Given the description of an element on the screen output the (x, y) to click on. 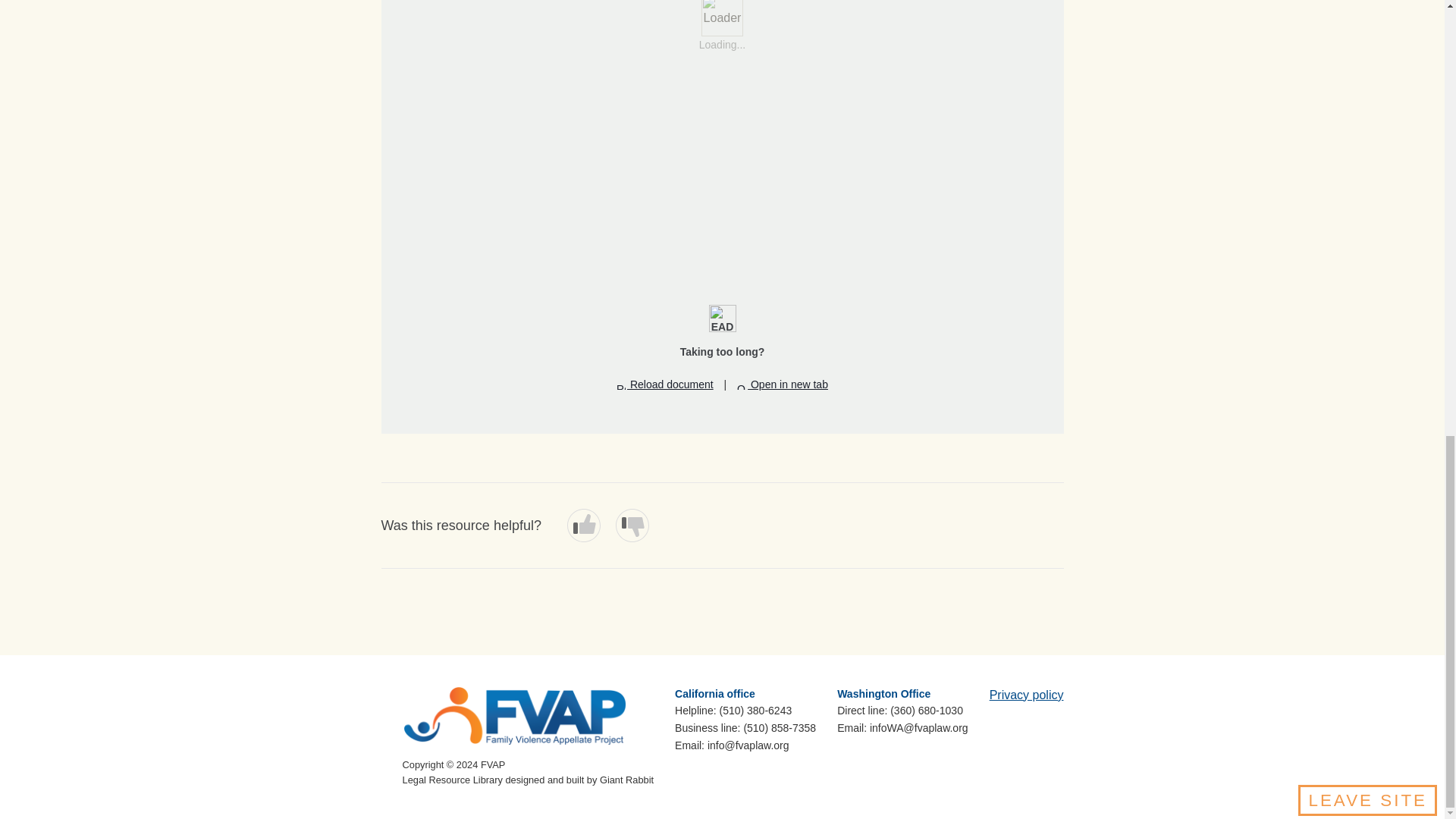
Privacy policy (1027, 694)
Open in new tab (782, 384)
Giant Rabbit (626, 779)
